Given the description of an element on the screen output the (x, y) to click on. 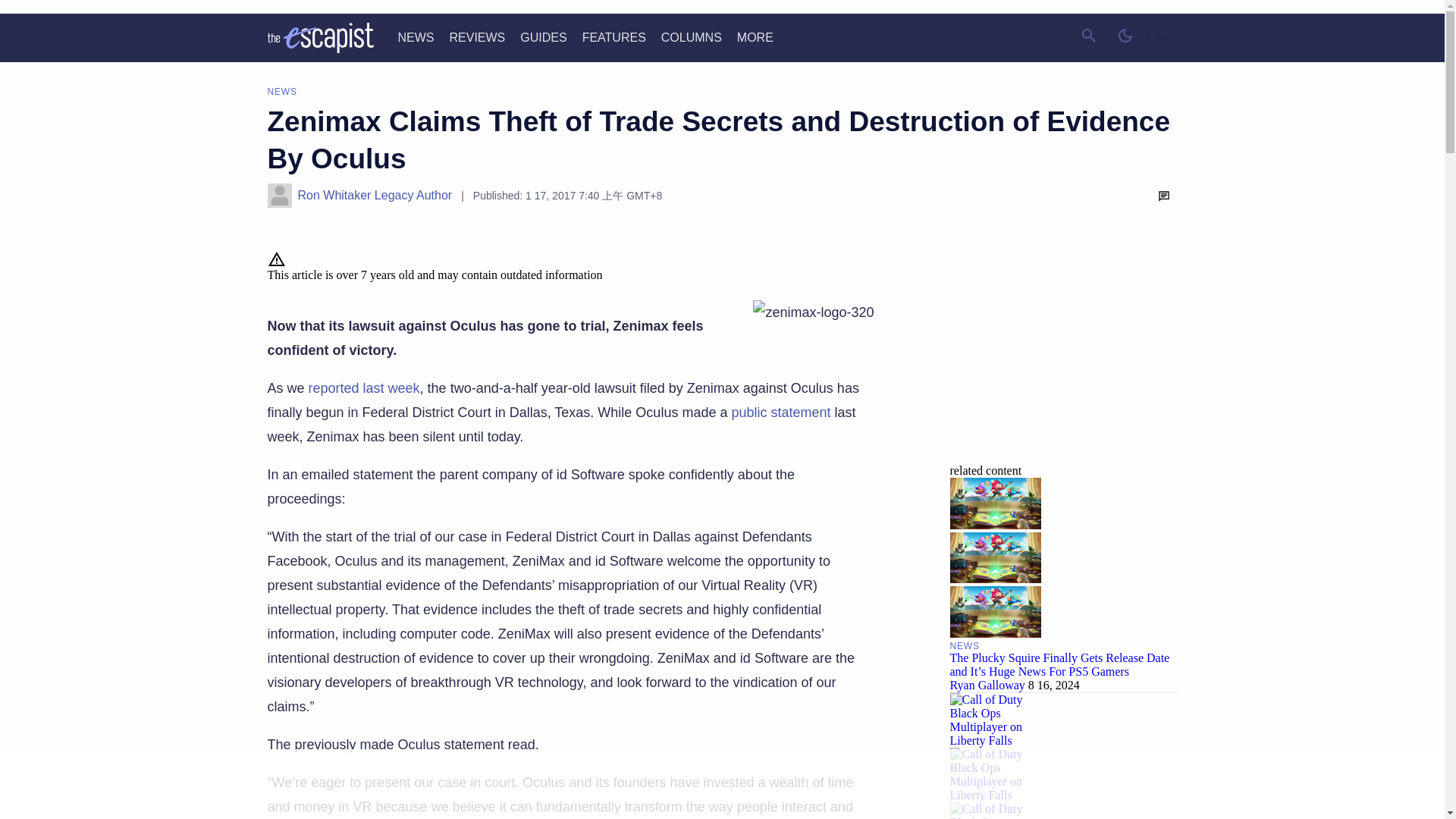
FEATURES (614, 37)
NEWS (415, 37)
3rd party ad content (1062, 344)
REVIEWS (476, 37)
zenimax-logo-320 (812, 312)
GUIDES (542, 37)
COLUMNS (691, 37)
Login (1162, 37)
3rd party ad content (721, 785)
Search (1088, 35)
